Given the description of an element on the screen output the (x, y) to click on. 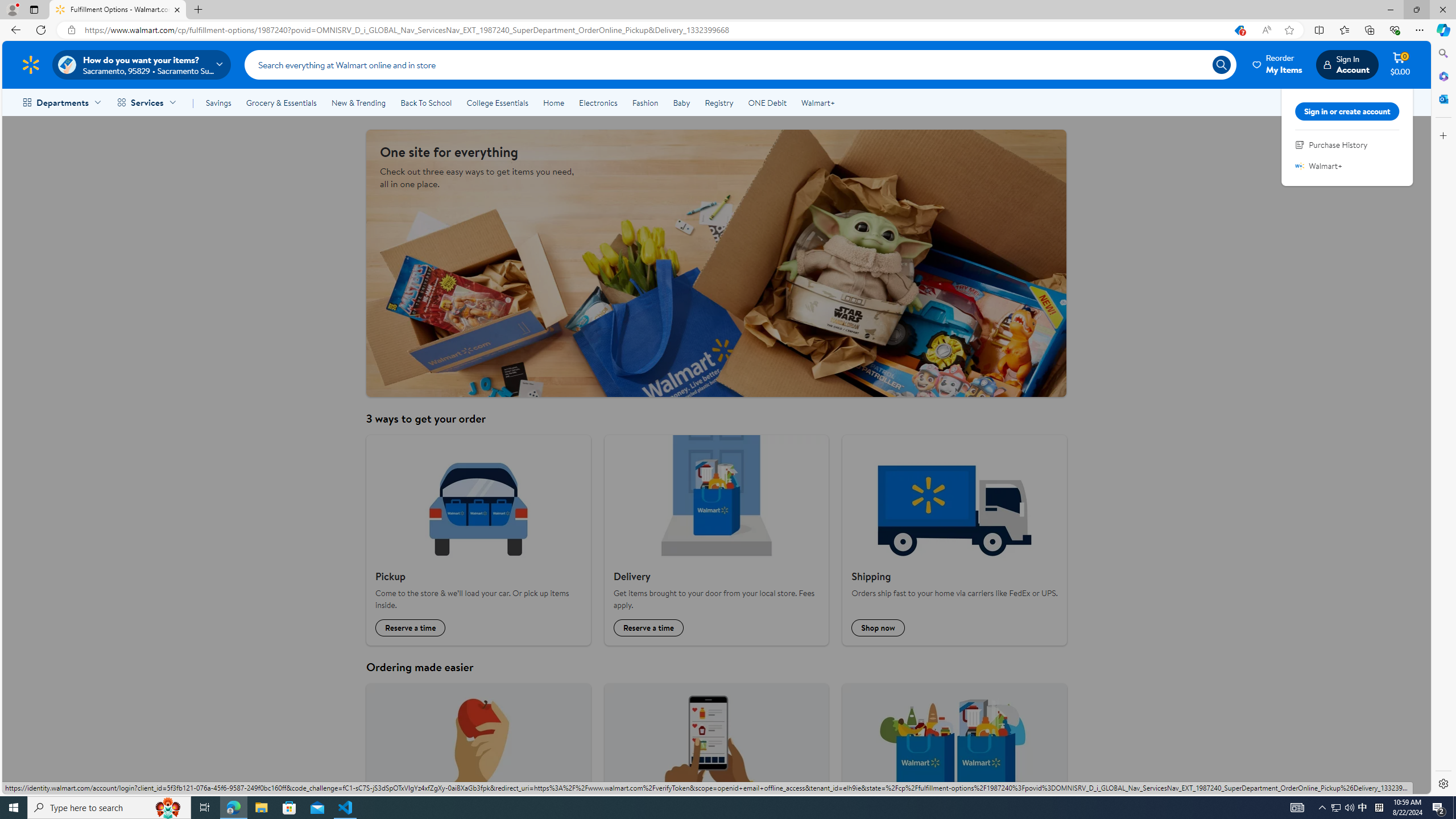
Savings (217, 102)
Walmart+ (1299, 165)
Baby (681, 102)
Sign In Account (1347, 64)
